Given the description of an element on the screen output the (x, y) to click on. 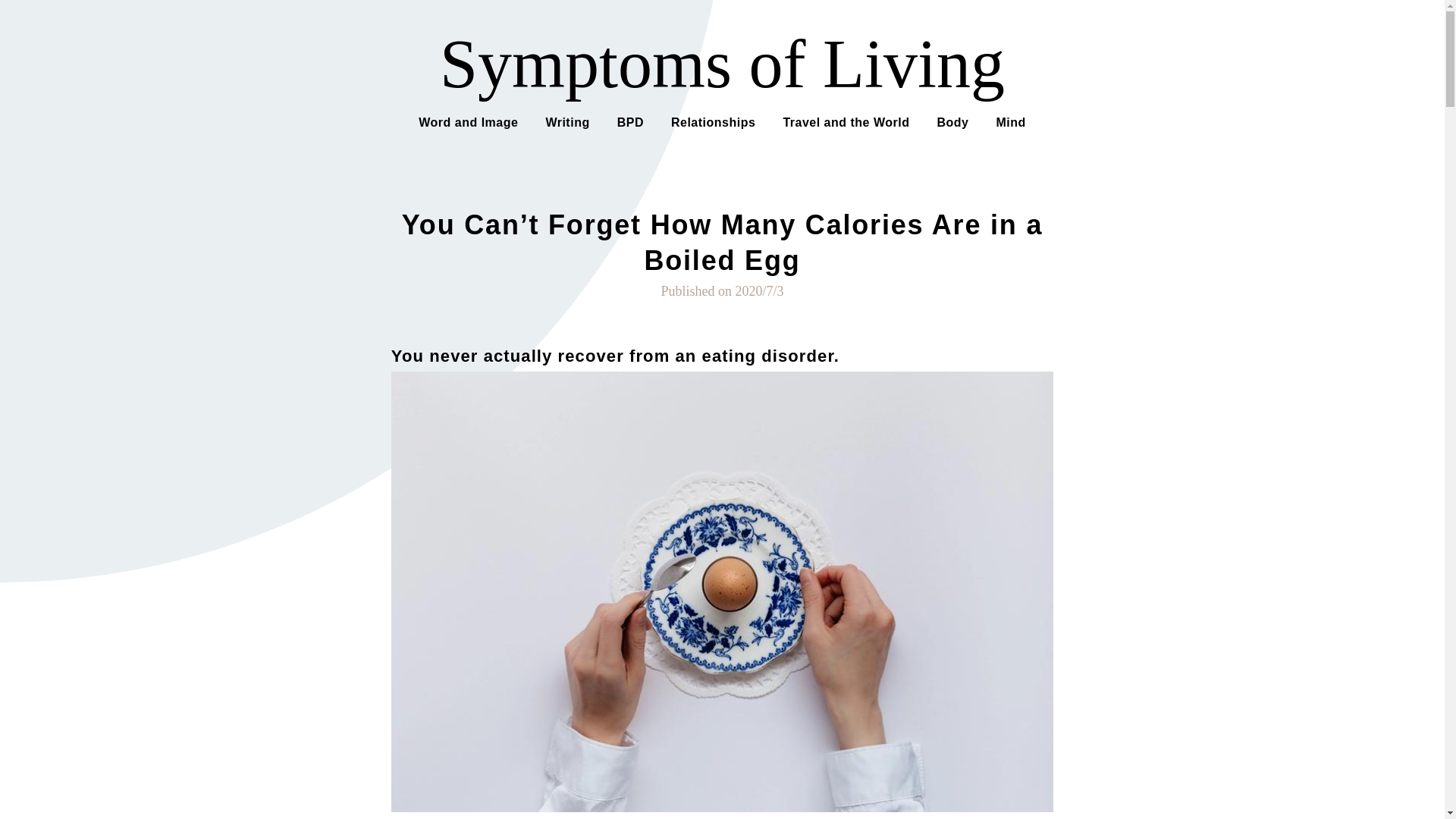
Writing (566, 122)
Travel and the World (845, 122)
BPD (630, 122)
Mind (1010, 122)
Body (951, 122)
Symptoms of Living (722, 64)
Relationships (713, 122)
Symptoms of Living (722, 64)
Word and Image (468, 122)
